Given the description of an element on the screen output the (x, y) to click on. 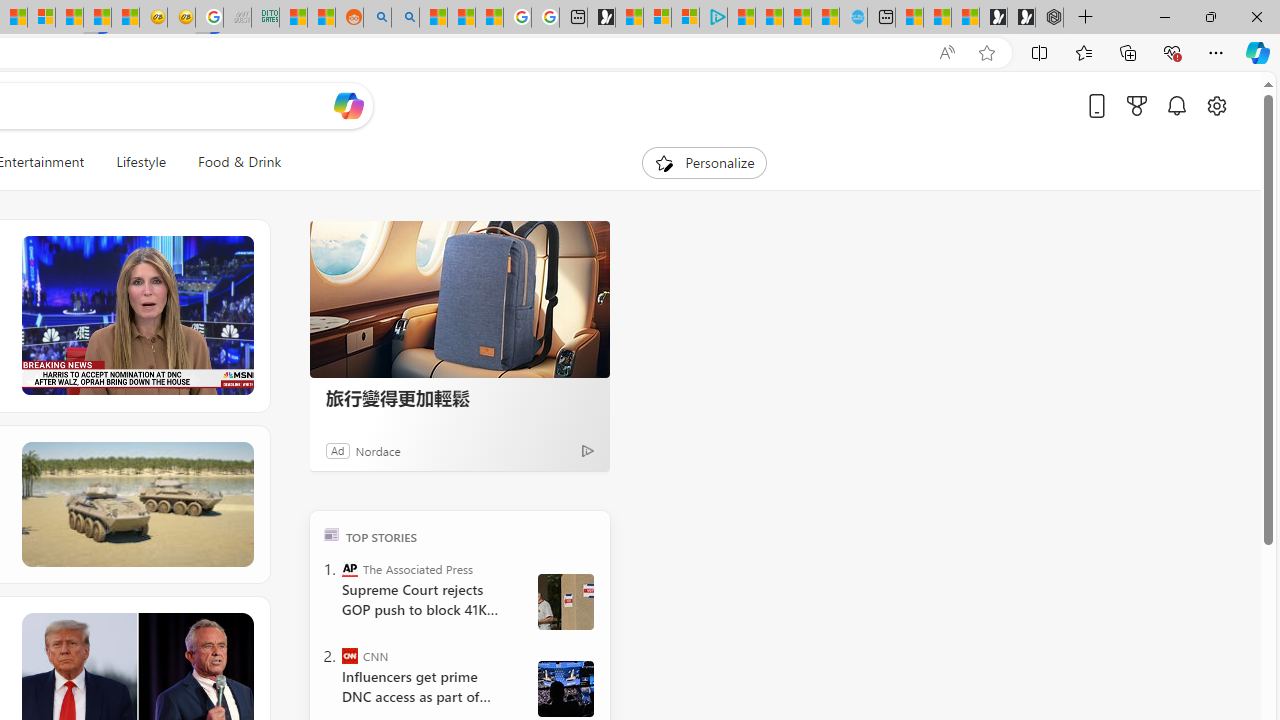
Class: hero-image (136, 316)
CNN (349, 655)
Nordace (377, 450)
Utah sues federal government - Search (404, 17)
DITOGAMES AG Imprint (265, 17)
Microsoft Start Gaming (601, 17)
